Given the description of an element on the screen output the (x, y) to click on. 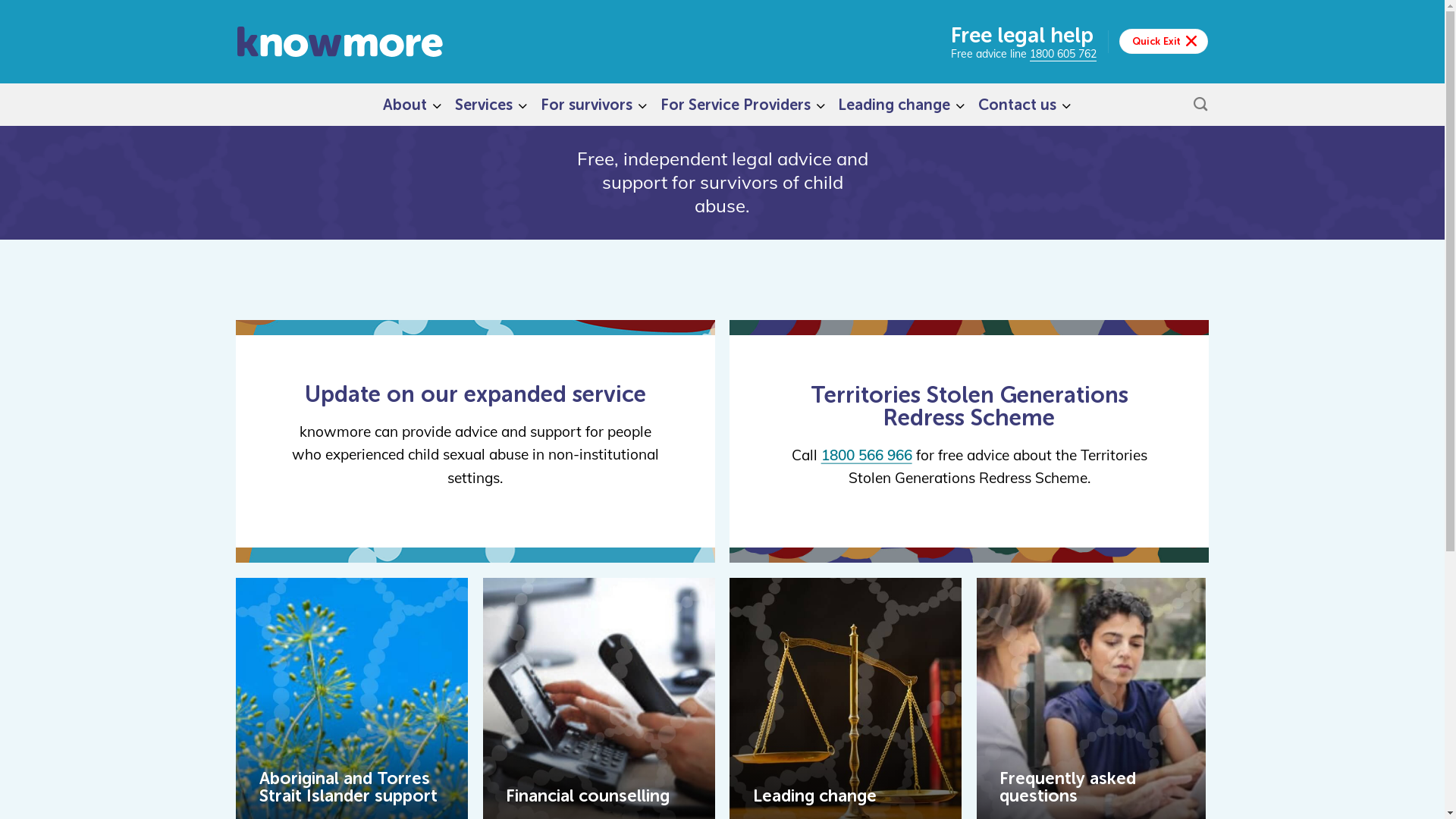
Contact us Element type: text (1013, 104)
1800 605 762 Element type: text (1062, 54)
Leading change Element type: text (889, 104)
For Service Providers Element type: text (731, 104)
For survivors Element type: text (582, 104)
Expand child menu Element type: text (436, 104)
Expand child menu Element type: text (642, 104)
1800 566 966 Element type: text (866, 454)
Expand child menu Element type: text (959, 104)
Update on our expanded service Element type: text (475, 394)
Skip to content Element type: text (0, 0)
knowmore - Free legal help for survivors Element type: hover (346, 41)
Services Element type: text (479, 104)
Expand child menu Element type: text (820, 104)
Expand child menu Element type: text (1066, 104)
Expand child menu Element type: text (522, 104)
Quick Exit Element type: text (1163, 40)
About Element type: text (400, 104)
Territories Stolen Generations Redress Scheme Element type: text (969, 406)
